Given the description of an element on the screen output the (x, y) to click on. 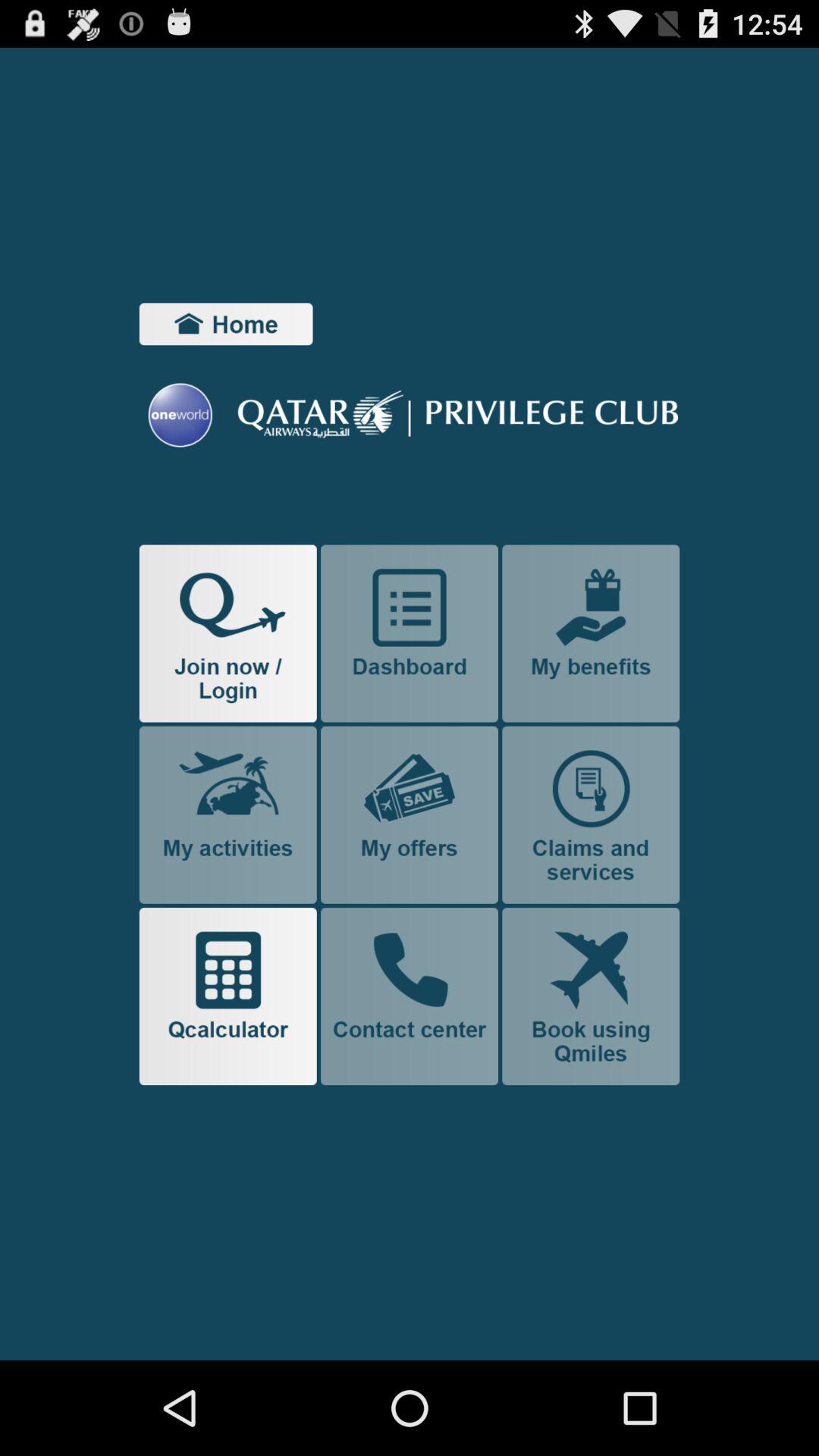
open the dashboard (409, 633)
